Given the description of an element on the screen output the (x, y) to click on. 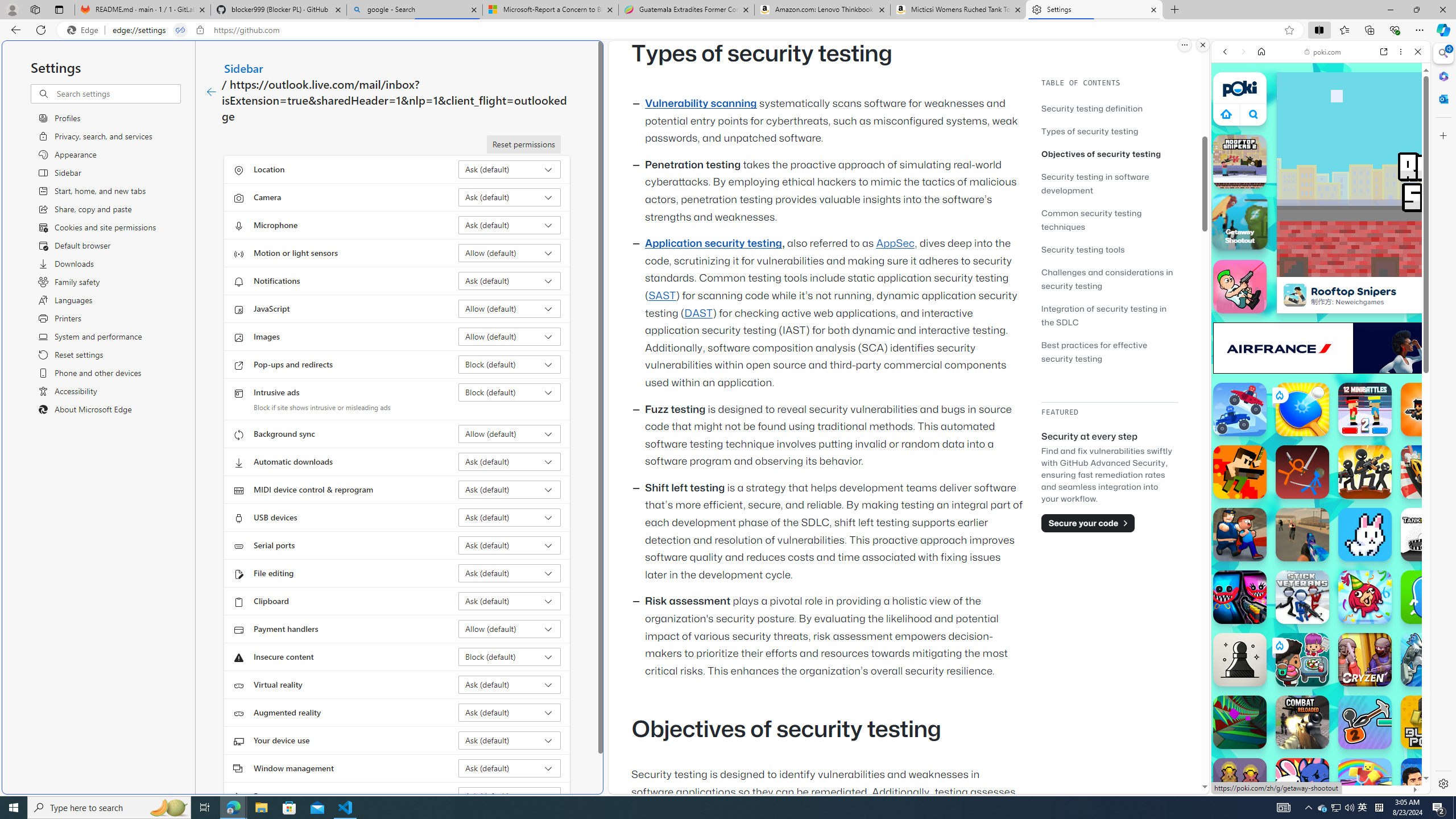
Security testing in software development (1094, 182)
Payment handlers Allow (default) (509, 628)
Poki (1315, 754)
Images Allow (default) (509, 336)
Classic Chess (1239, 659)
Kate's Cooking Party 2 Kate's Cooking Party 2 (1302, 659)
Stickman Fight: Ragdoll Stickman Fight: Ragdoll (1302, 471)
Tunnel Rush (1239, 722)
